Given the description of an element on the screen output the (x, y) to click on. 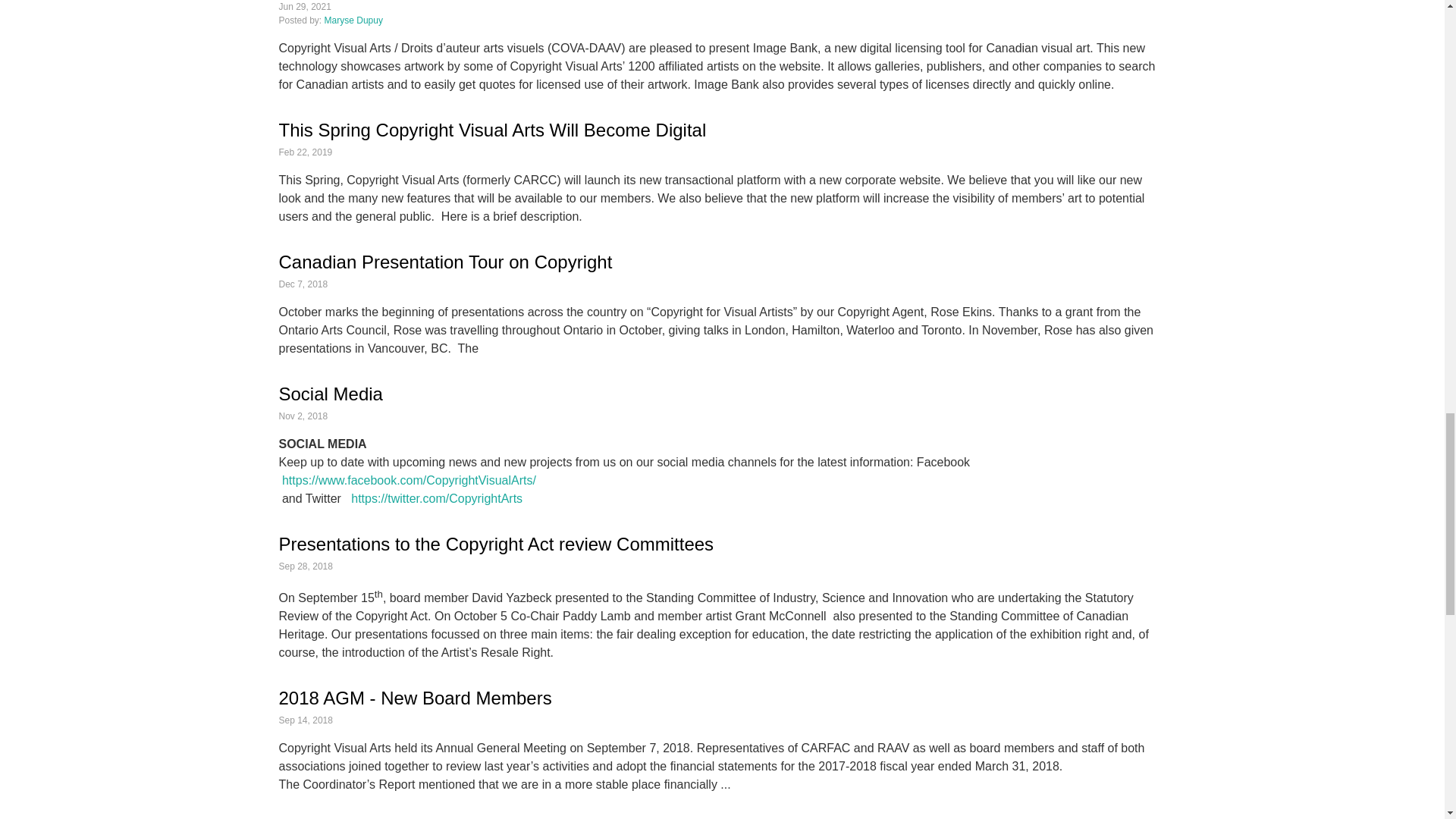
Presentations to the Copyright Act review Committees (496, 543)
This Spring Copyright Visual Arts Will Become Digital (492, 129)
2018 AGM - New Board Members (415, 697)
Social Media (330, 394)
Canadian Presentation Tour on Copyright (445, 261)
Maryse Dupuy (353, 20)
